Given the description of an element on the screen output the (x, y) to click on. 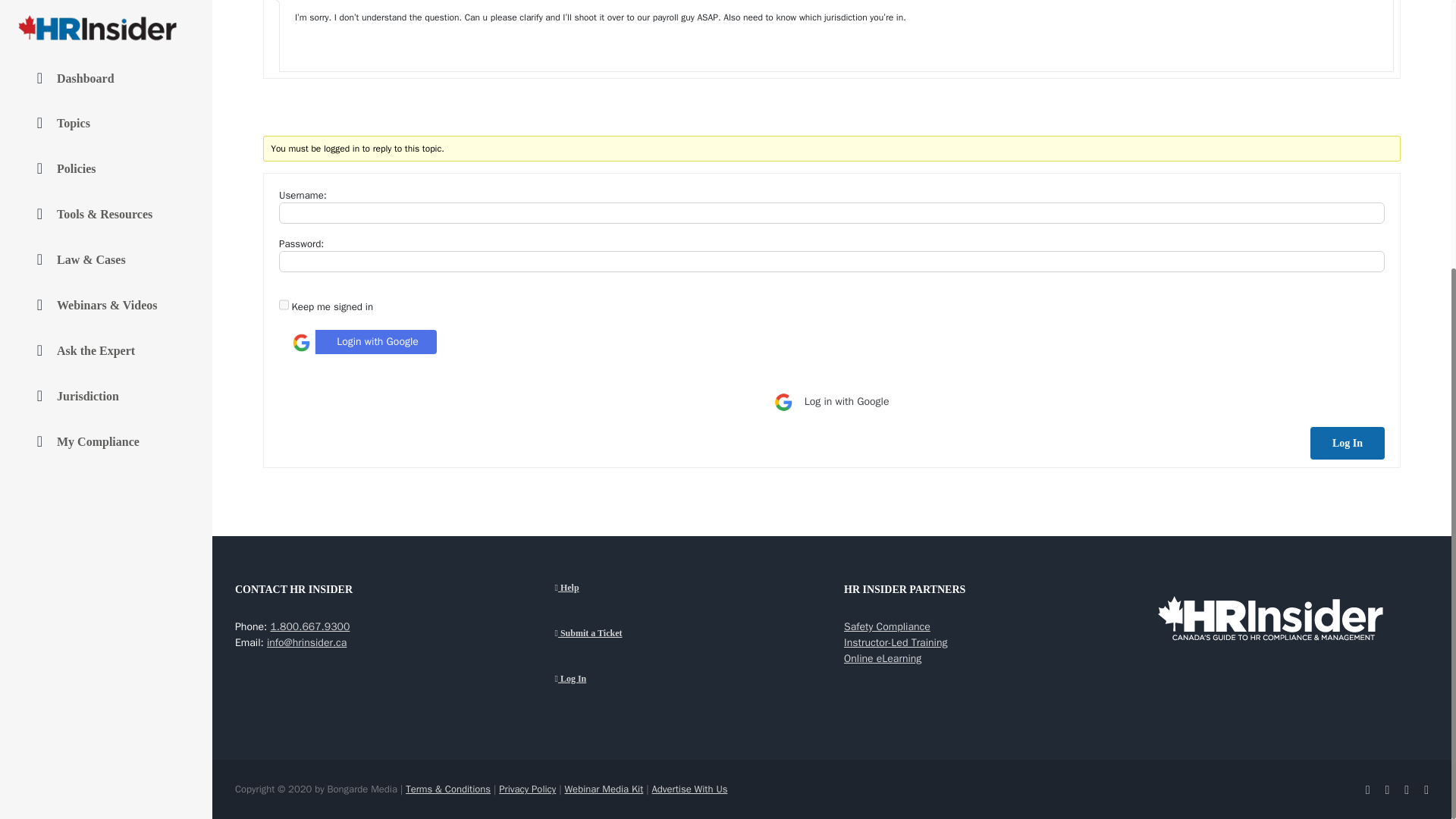
Log in with Google (831, 401)
My Compliance (106, 42)
Help (585, 587)
Log In (585, 678)
Jurisdiction (106, 16)
Login with Google (360, 341)
1.800.667.9300 (309, 626)
Log In (1347, 442)
Submit a Ticket (585, 633)
